Given the description of an element on the screen output the (x, y) to click on. 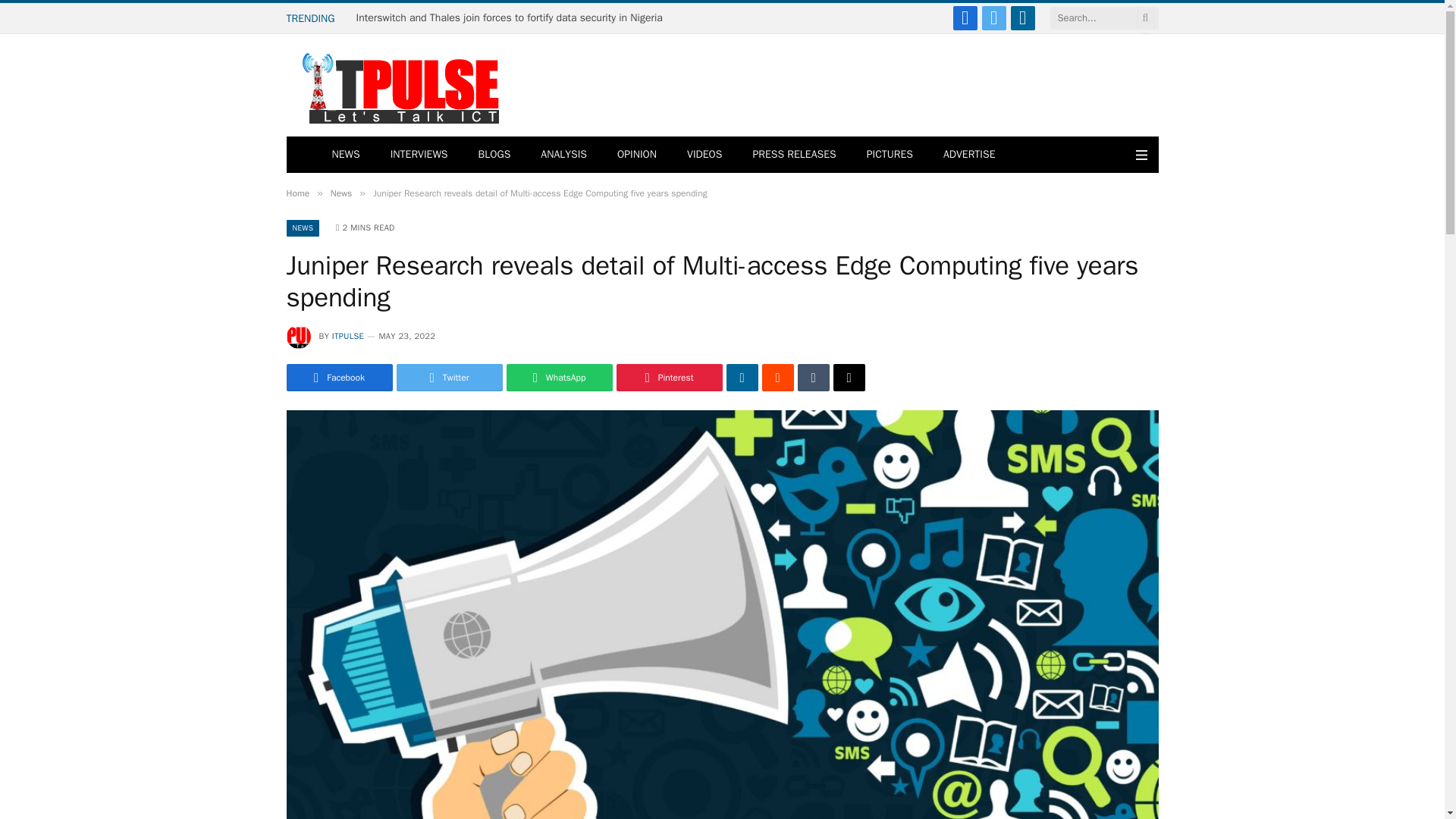
ITPulse.com.ng (395, 84)
PRESS RELEASES (793, 154)
Twitter (993, 17)
ADVERTISE (969, 154)
Share on WhatsApp (559, 377)
Share on Tumblr (813, 377)
Share on Pinterest (668, 377)
Posts by ITPulse (347, 335)
OPINION (636, 154)
ANALYSIS (563, 154)
Facebook (964, 17)
LinkedIn (1021, 17)
Share via Email (848, 377)
VIDEOS (703, 154)
Share on LinkedIn (742, 377)
